Given the description of an element on the screen output the (x, y) to click on. 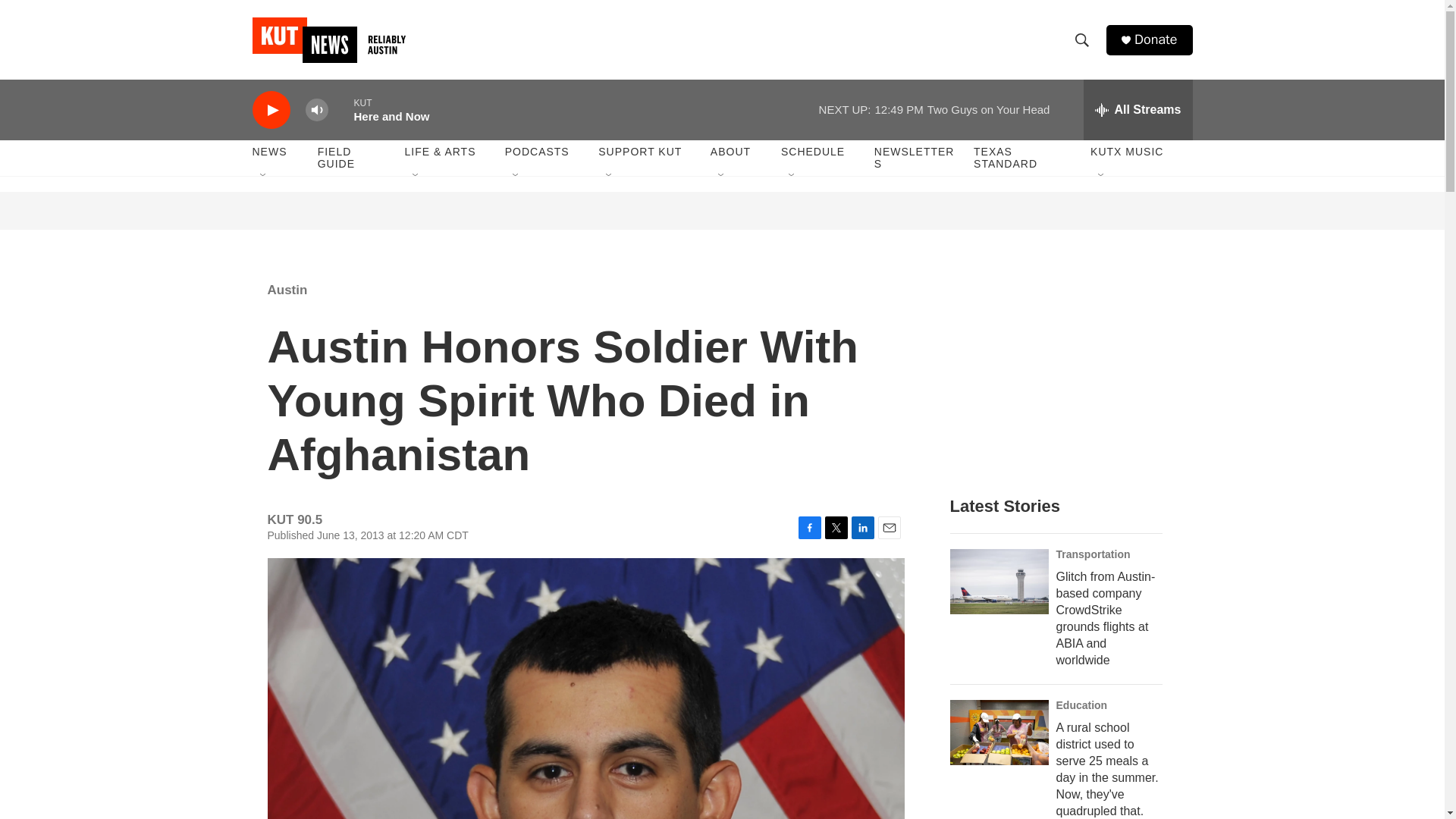
3rd party ad content (722, 210)
3rd party ad content (1062, 370)
